Given the description of an element on the screen output the (x, y) to click on. 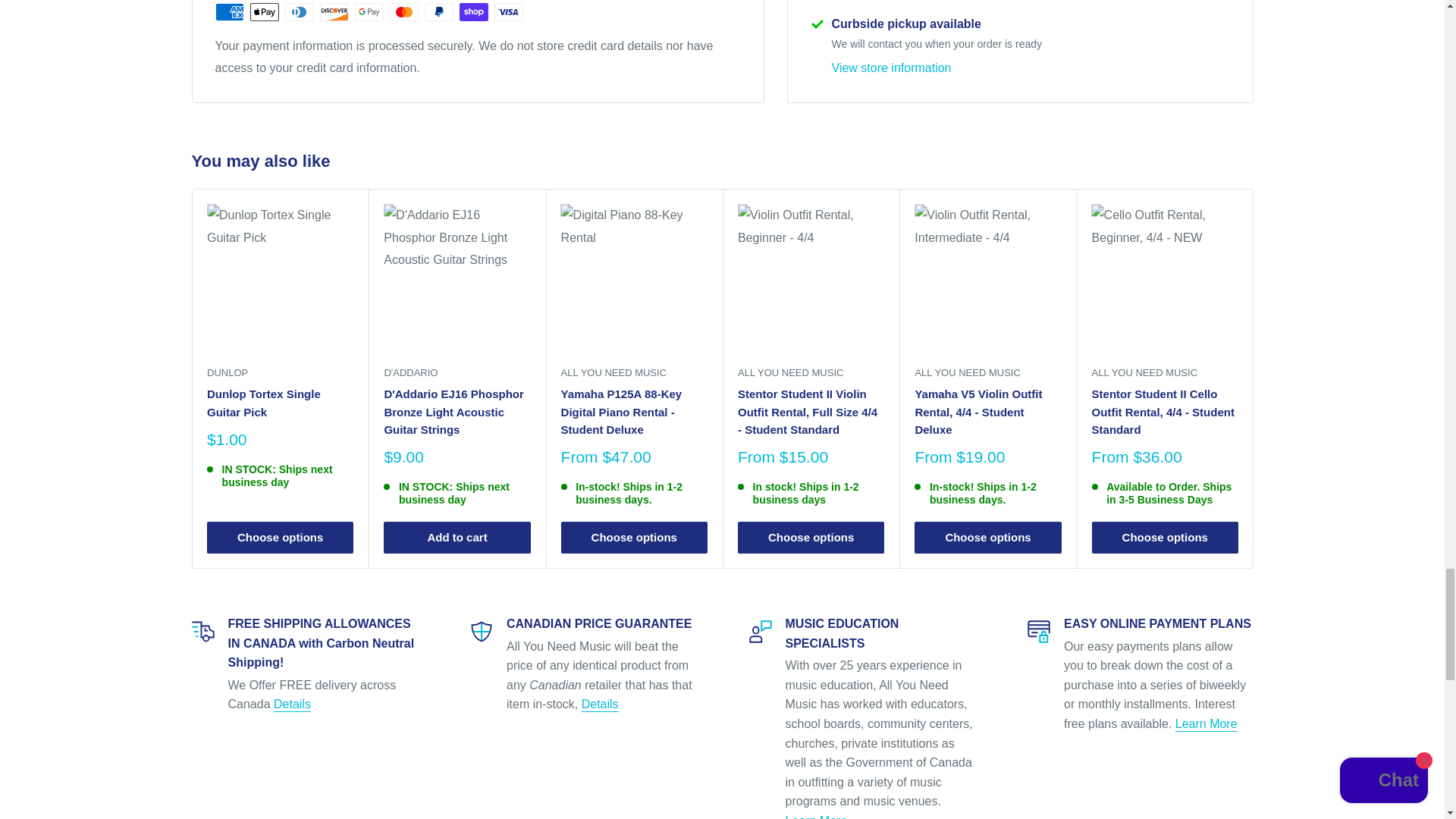
Canadian Price Match Guarantee (599, 703)
Shipping Policy (292, 703)
Music Education Department (816, 816)
